Given the description of an element on the screen output the (x, y) to click on. 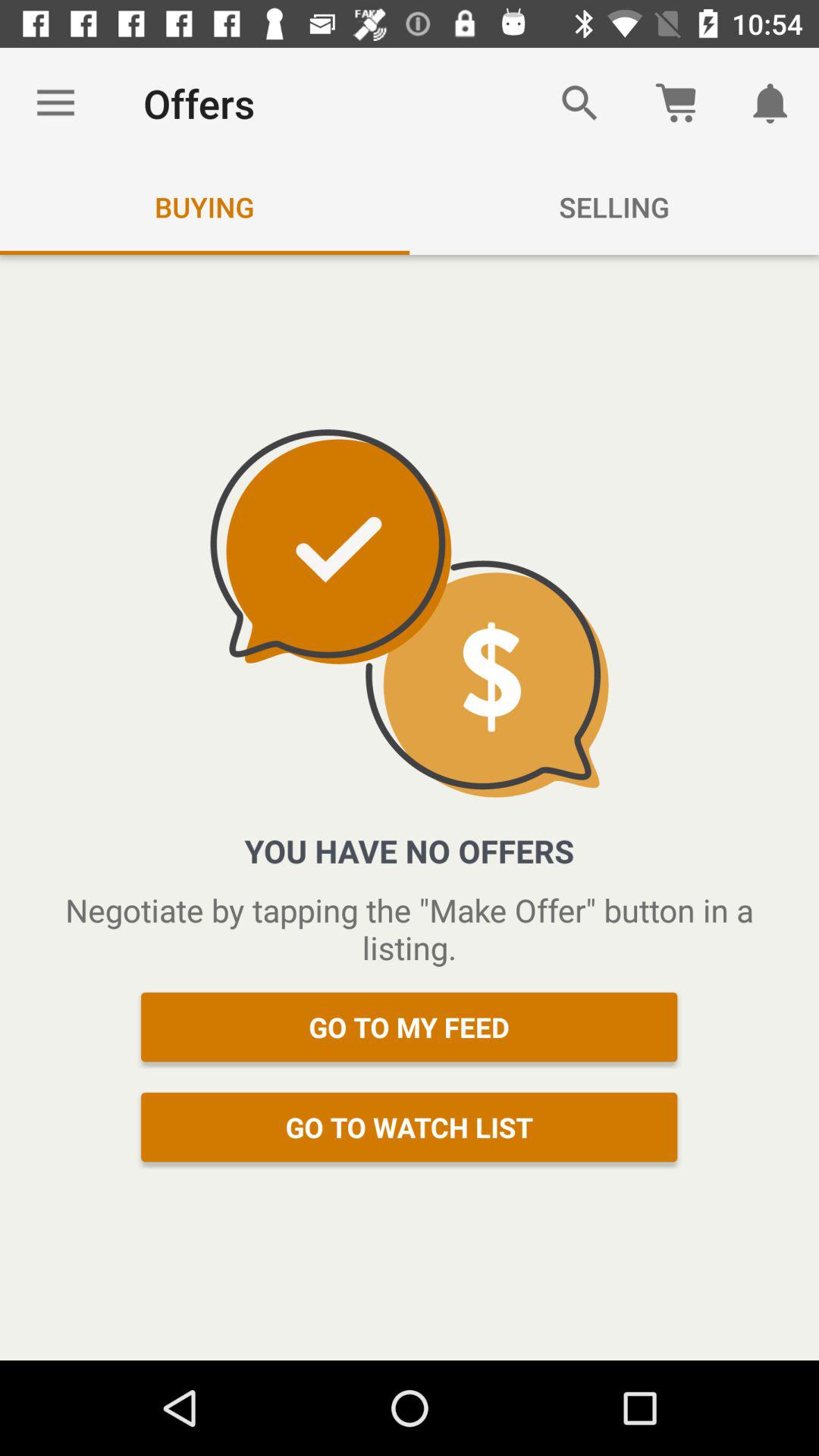
launch item to the right of the offers item (579, 103)
